Given the description of an element on the screen output the (x, y) to click on. 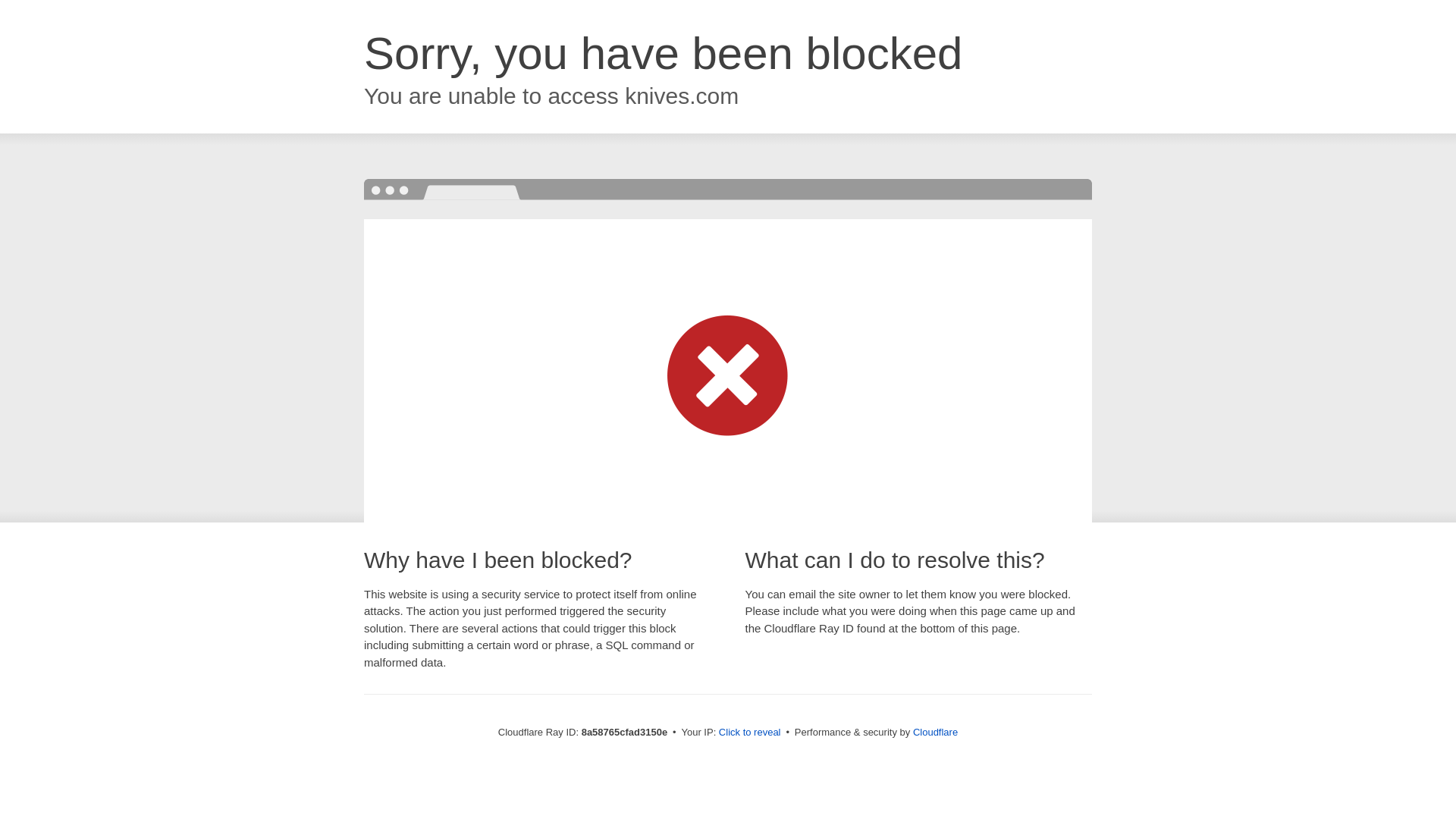
Click to reveal (749, 732)
Cloudflare (935, 731)
